Given the description of an element on the screen output the (x, y) to click on. 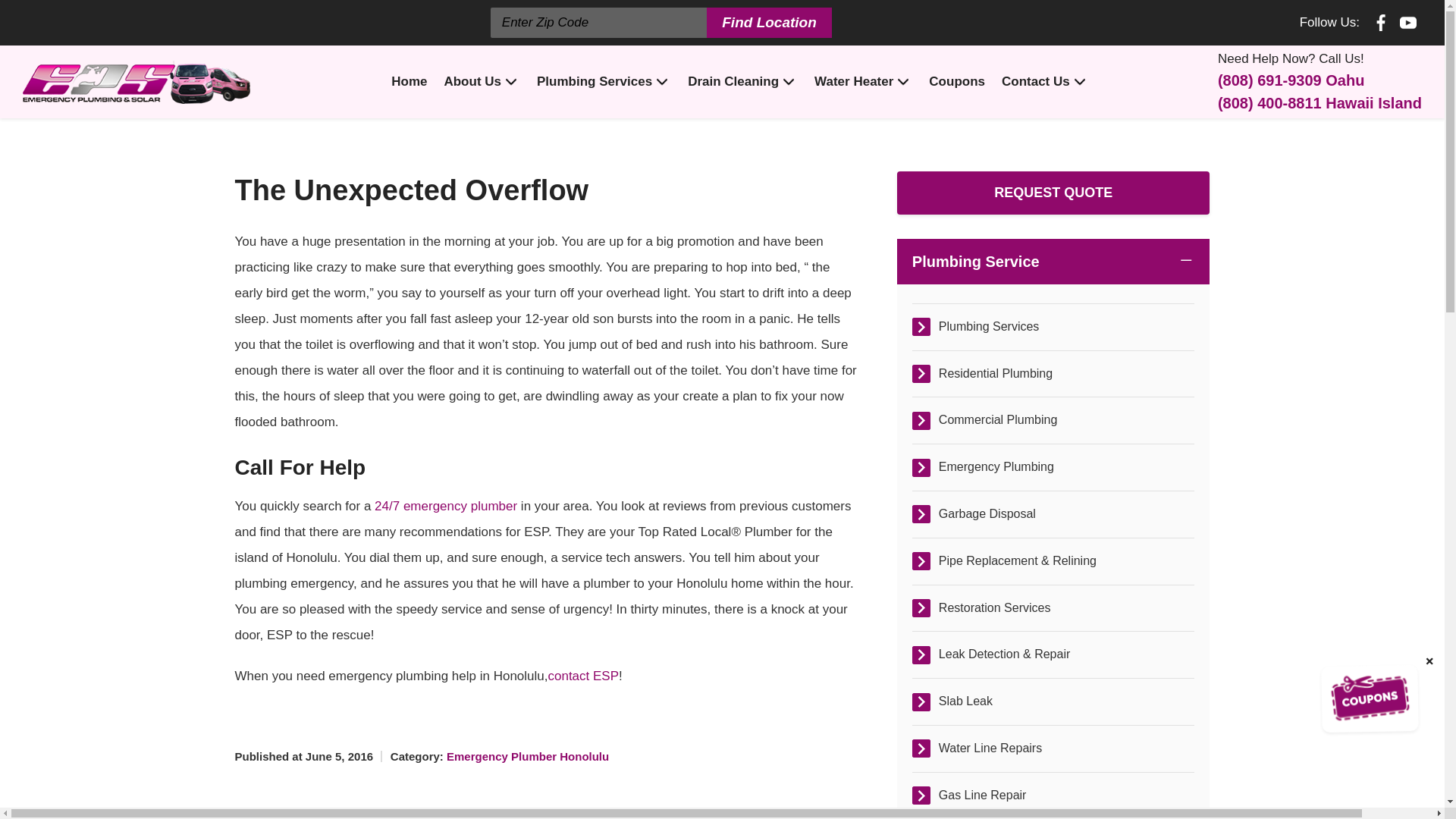
Find Location (768, 22)
Find Location (768, 22)
